Given the description of an element on the screen output the (x, y) to click on. 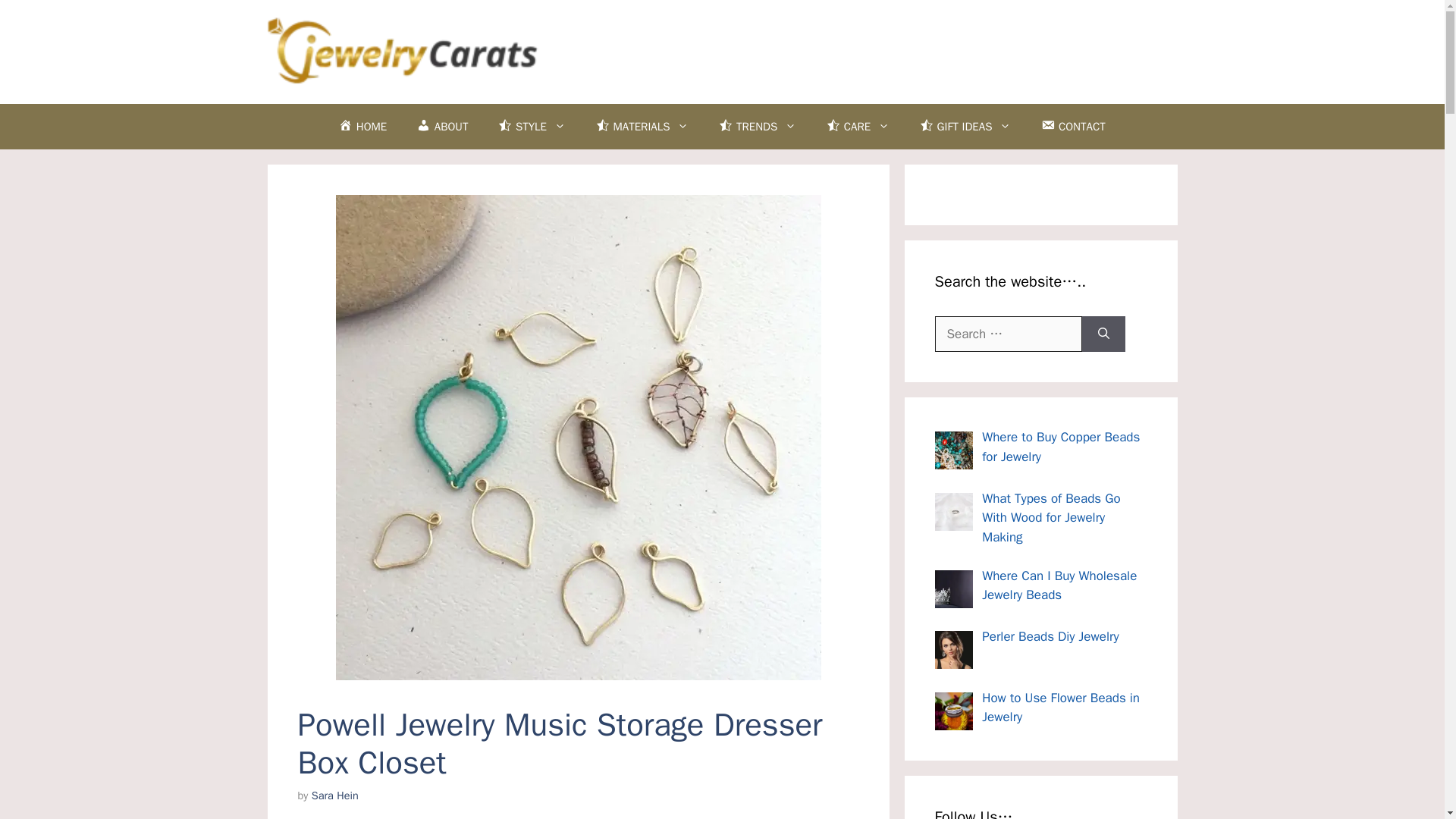
Search for: (1007, 334)
View all posts by Sara Hein (334, 795)
